Given the description of an element on the screen output the (x, y) to click on. 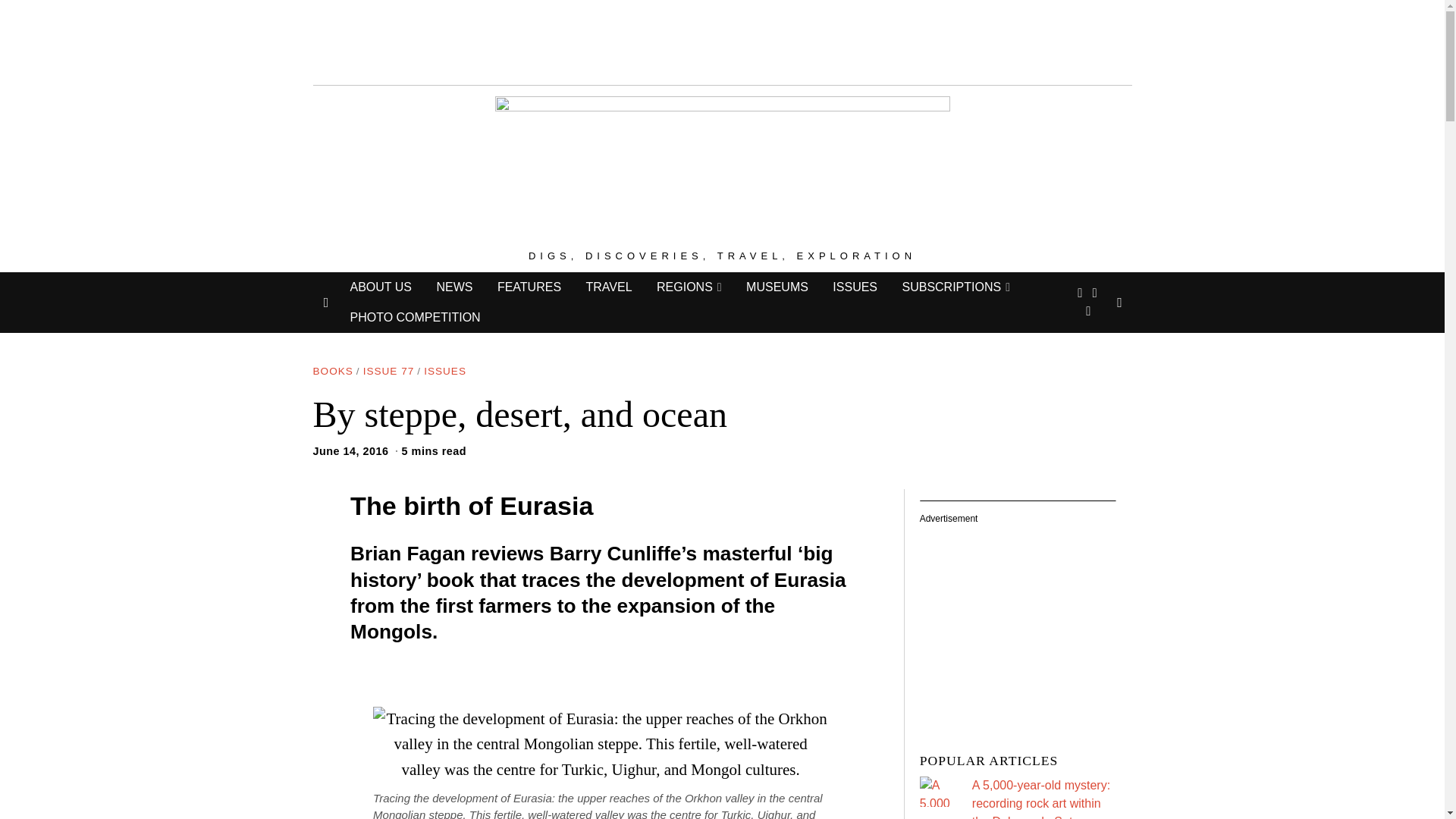
ABOUT US (380, 286)
3rd party ad content (1028, 620)
FEATURES (529, 286)
REGIONS (689, 286)
3rd party ad content (721, 38)
TRAVEL (608, 286)
NEWS (454, 286)
